Given the description of an element on the screen output the (x, y) to click on. 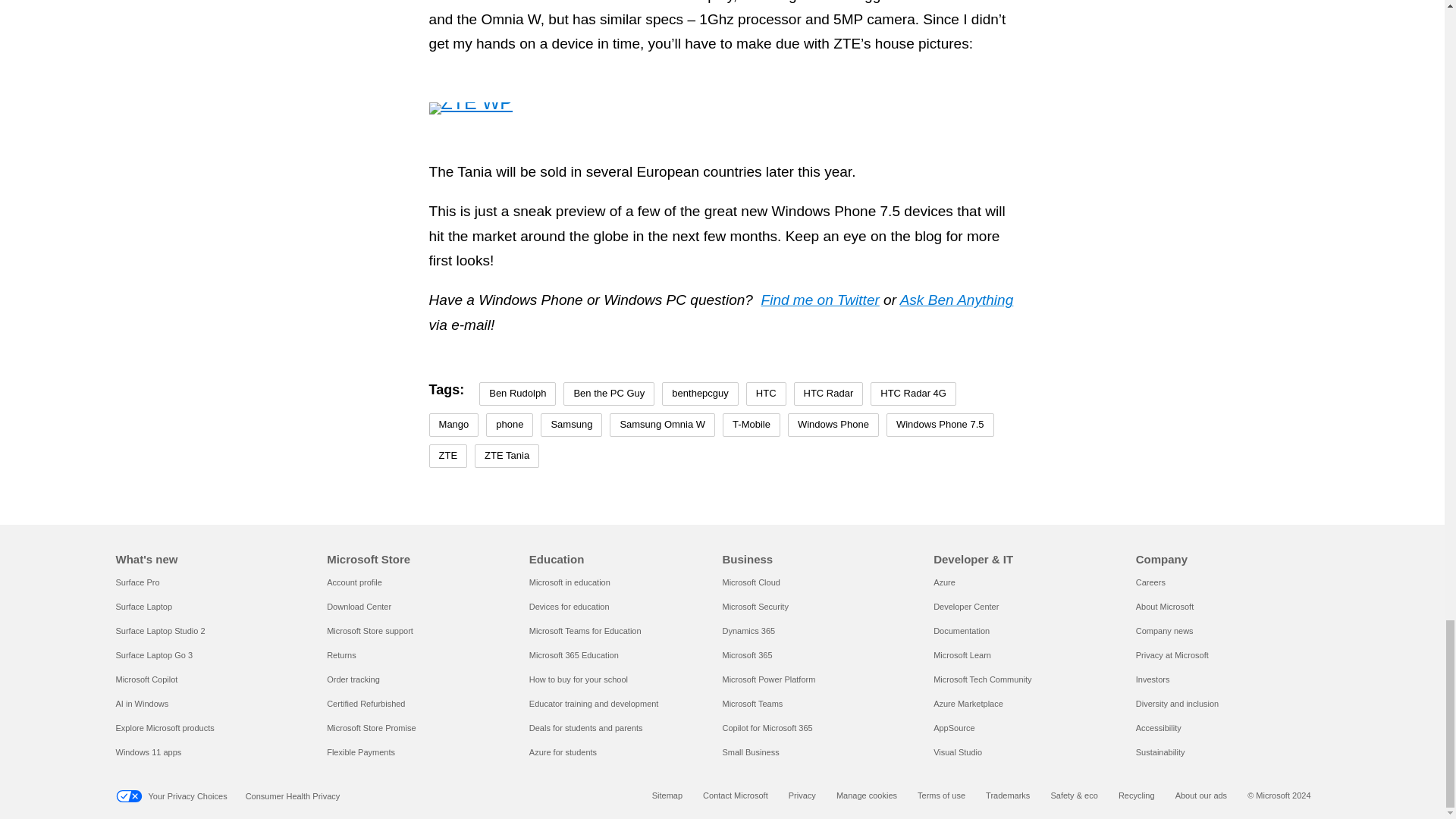
HTC Radar 4G Tag (913, 393)
HTC Tag (765, 393)
Ben the PC Guy Tag (608, 393)
benthepcguy Tag (700, 393)
phone Tag (509, 424)
Ben Rudolph Tag (517, 393)
ZTE WP (470, 108)
HTC Radar Tag (828, 393)
Mango Tag (454, 424)
